Given the description of an element on the screen output the (x, y) to click on. 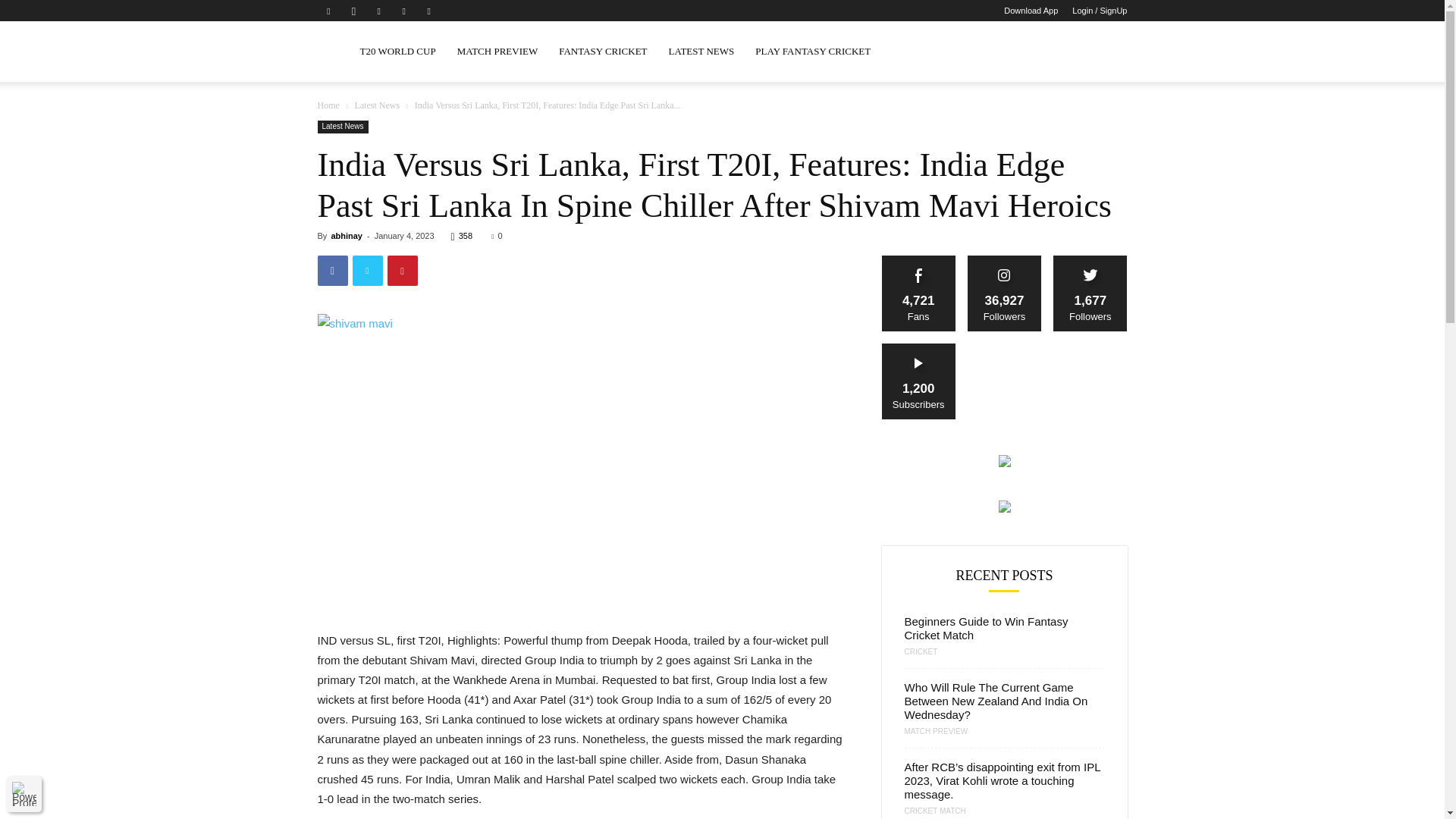
Latest News (342, 126)
Download App (1031, 10)
View all posts in Latest News (375, 104)
LATEST NEWS (701, 51)
MATCH PREVIEW (497, 51)
PLAY FANTASY CRICKET (812, 51)
FANTASY CRICKET (603, 51)
Youtube (429, 10)
Home (328, 104)
Twitter (403, 10)
Facebook (328, 10)
Latest News (375, 104)
Linkedin (379, 10)
Instagram (353, 10)
